Given the description of an element on the screen output the (x, y) to click on. 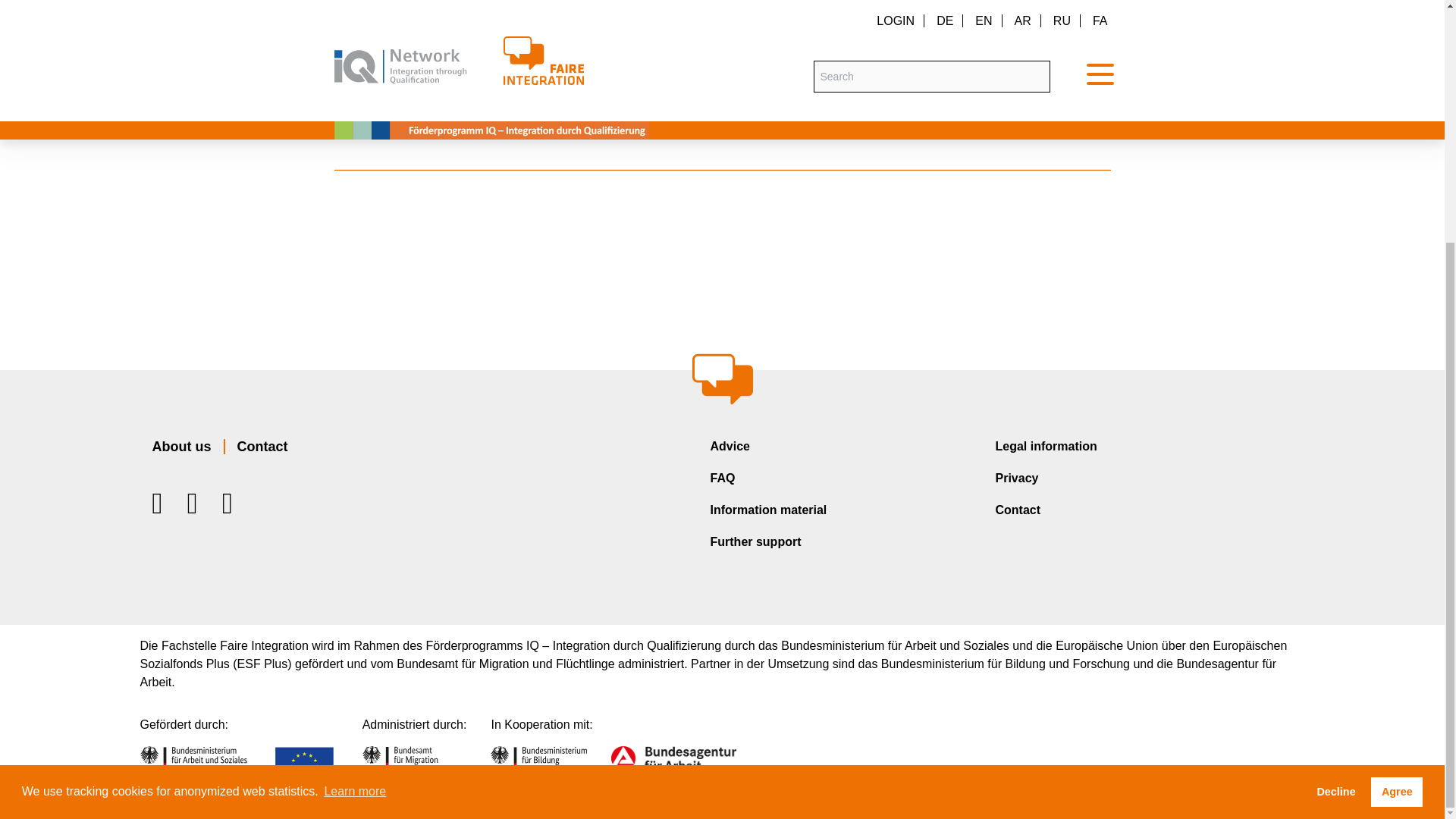
Decline (1335, 455)
Learn more (354, 455)
Agree (1396, 455)
